Given the description of an element on the screen output the (x, y) to click on. 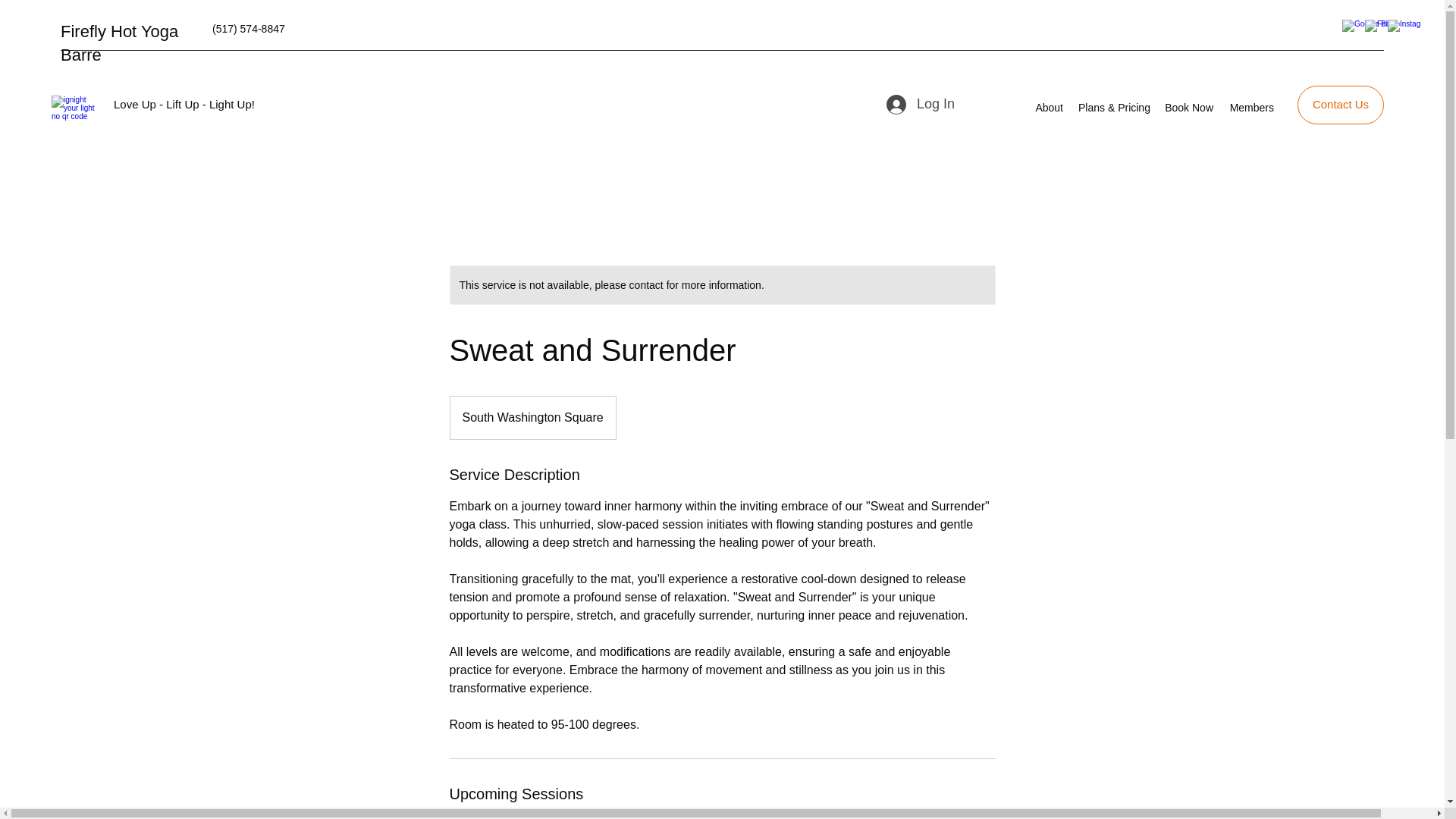
Book Now (1188, 107)
Firefly Hot Yoga Barre (119, 43)
About (1047, 107)
Log In (905, 104)
Contact Us (1340, 104)
Members (1251, 107)
